Given the description of an element on the screen output the (x, y) to click on. 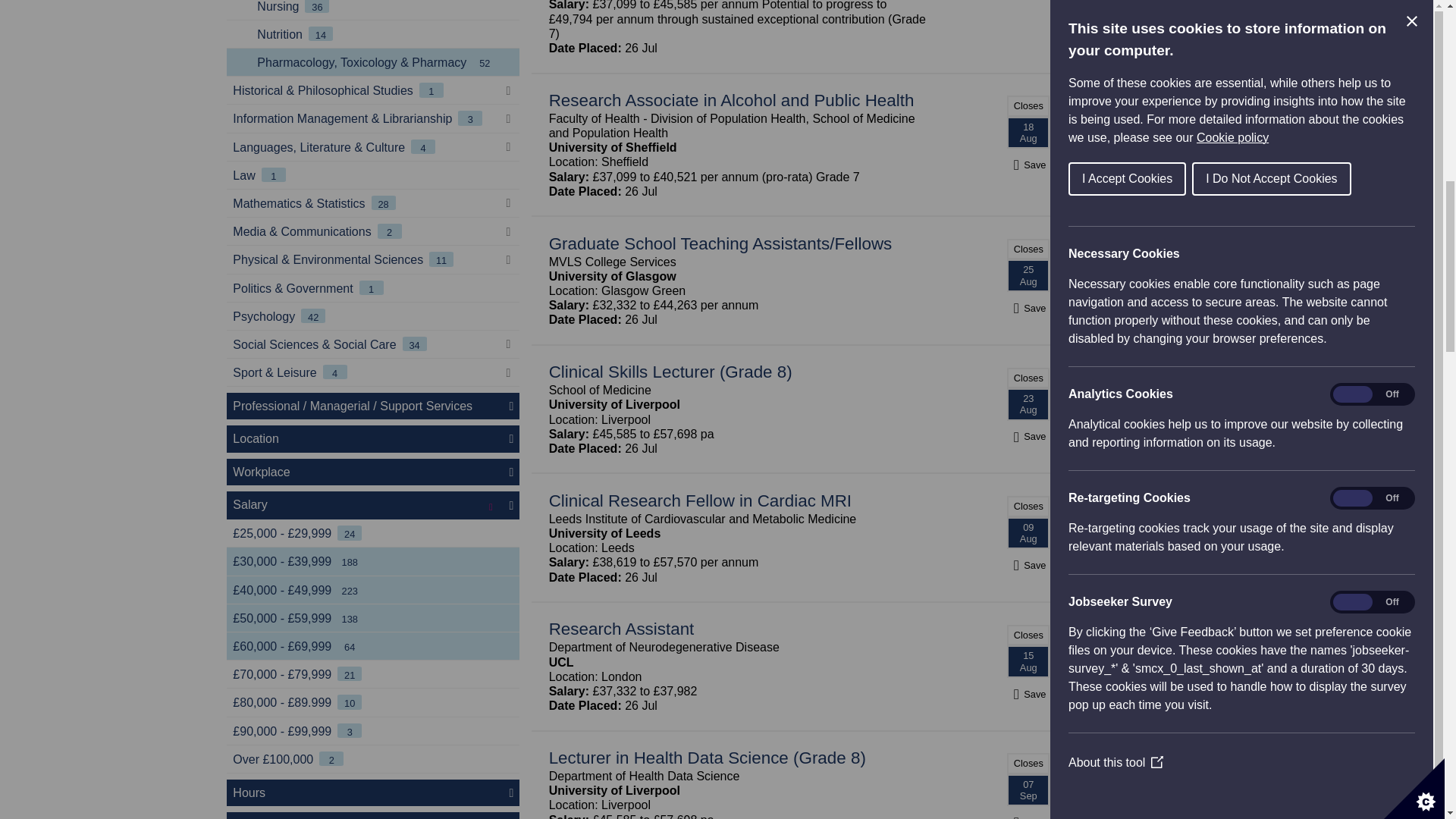
Save job (1027, 436)
Research Associate in Alcohol and Public Health (731, 99)
Save job (1027, 694)
Save job (1027, 308)
Save job (1027, 164)
Save (1027, 164)
Save job (1027, 564)
